Given the description of an element on the screen output the (x, y) to click on. 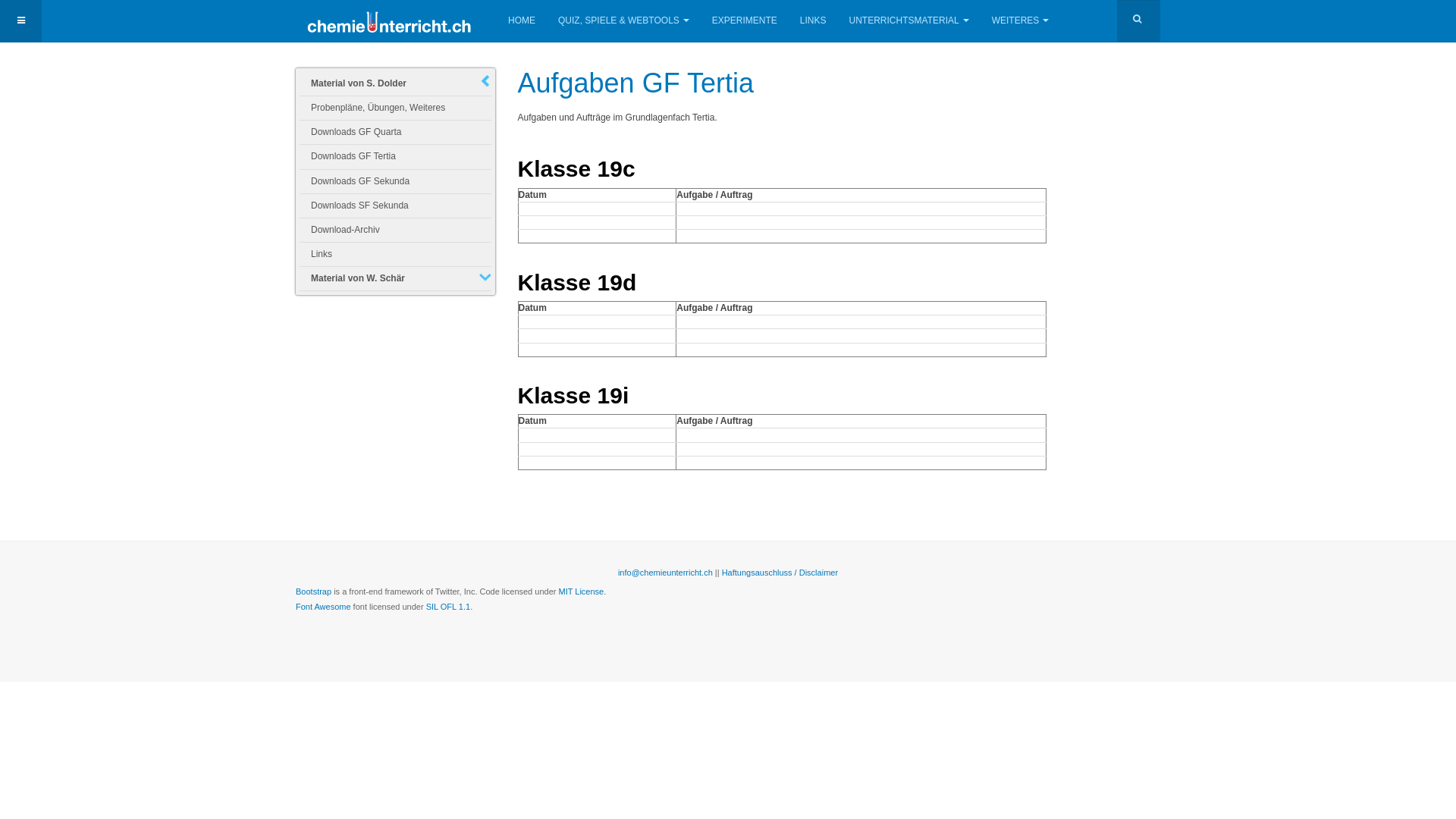
Downloads GF Tertia Element type: text (395, 156)
Links Element type: text (395, 254)
chemieunterricht.ch Element type: hover (390, 20)
Download-Archiv Element type: text (395, 229)
QUIZ, SPIELE & WEBTOOLS Element type: text (623, 20)
Font Awesome Element type: text (323, 606)
Downloads SF Sekunda Element type: text (395, 205)
WEITERES Element type: text (1020, 20)
Downloads GF Sekunda Element type: text (395, 181)
Aufgaben GF Tertia Element type: text (635, 82)
info@chemieunterricht.ch Element type: text (665, 572)
EXPERIMENTE Element type: text (744, 20)
HOME Element type: text (521, 20)
Bootstrap Element type: text (313, 591)
UNTERRICHTSMATERIAL Element type: text (909, 20)
LINKS Element type: text (813, 20)
SIL OFL 1.1 Element type: text (448, 606)
MIT License. Element type: text (581, 591)
Haftungsauschluss / Disclaimer Element type: text (779, 572)
Material von S. Dolder Element type: text (395, 83)
Downloads GF Quarta Element type: text (395, 132)
